Given the description of an element on the screen output the (x, y) to click on. 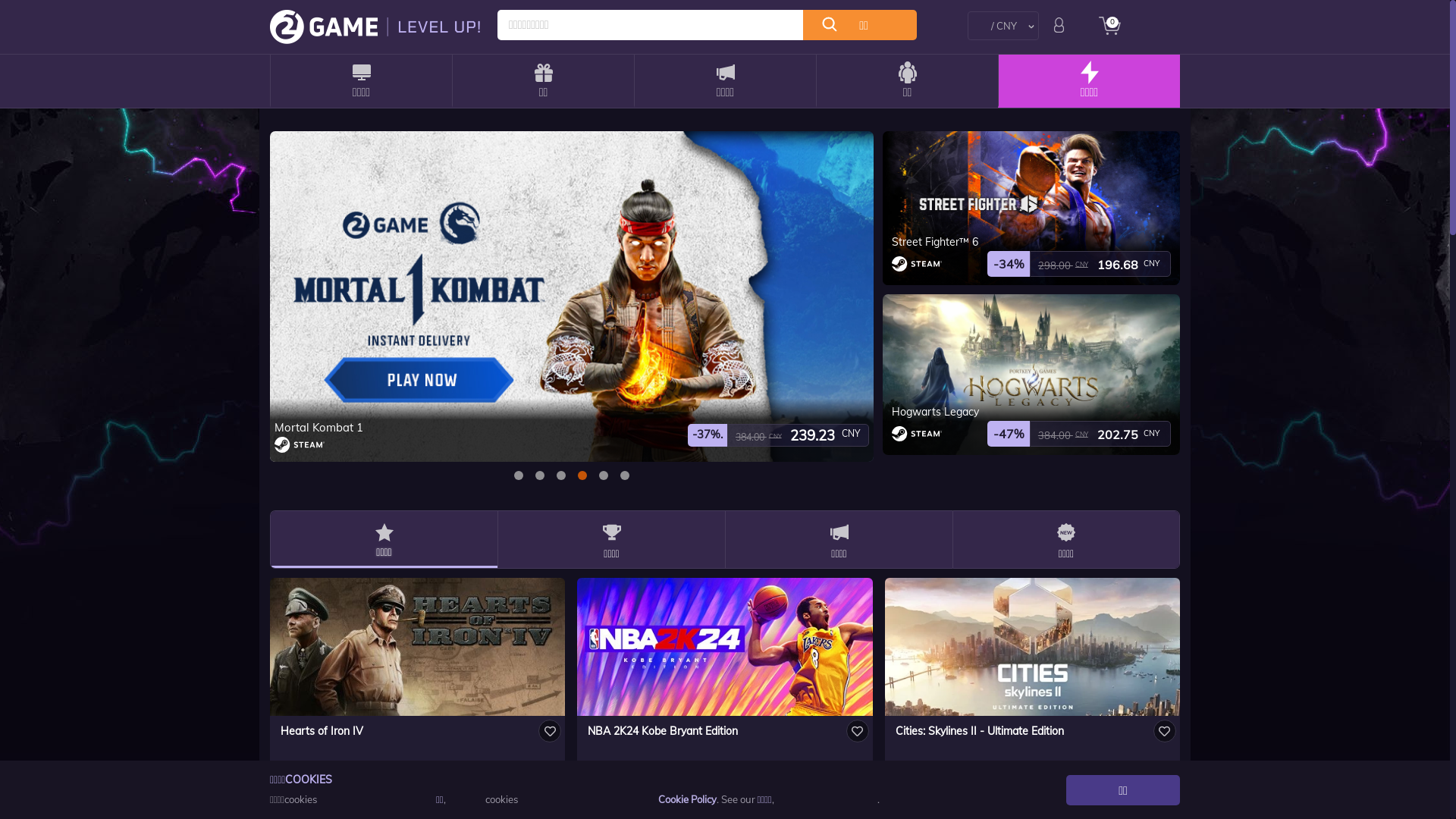
5 Element type: text (624, 475)
0 Element type: text (518, 475)
login Element type: hover (1058, 24)
1 Element type: text (539, 475)
Cookie Policy Element type: text (687, 799)
NBA 2K24 Kobe Bryant Edition Element type: text (662, 730)
Hogwarts Legacy Element type: text (935, 411)
3 Element type: text (581, 475)
2 Element type: text (560, 475)
Cities: Skylines II - Ultimate Edition Element type: text (979, 730)
Hearts of Iron IV Element type: text (321, 730)
4 Element type: text (603, 475)
